Given the description of an element on the screen output the (x, y) to click on. 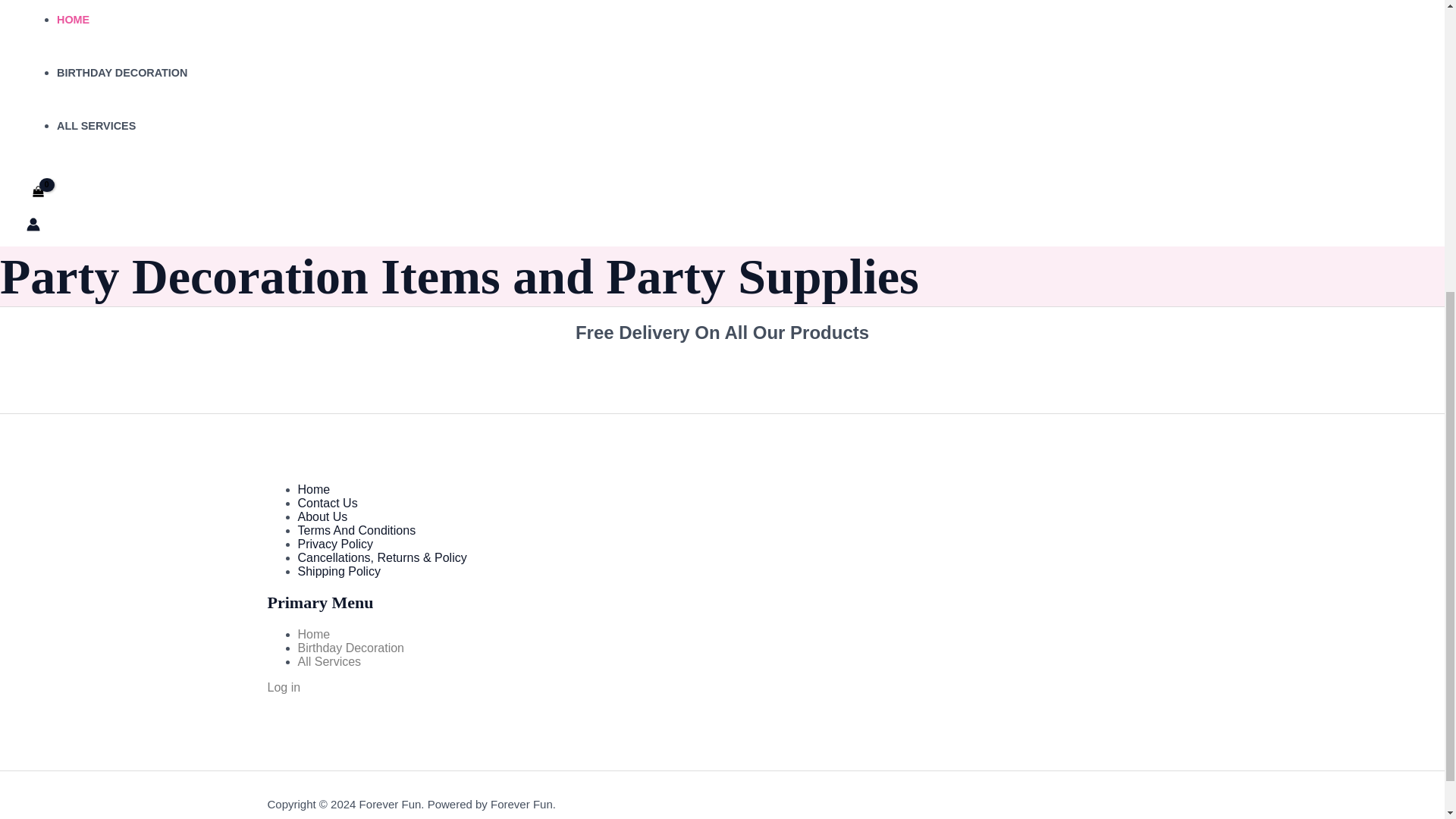
Terms And Conditions (355, 530)
About Us (322, 516)
Home (313, 634)
Log in (282, 686)
Birthday Decoration (350, 647)
ALL SERVICES (95, 125)
Privacy Policy (334, 543)
HOME (72, 19)
Shipping Policy (338, 571)
All Services (329, 661)
Contact Us (326, 502)
Home (313, 489)
BIRTHDAY DECORATION (121, 72)
